Given the description of an element on the screen output the (x, y) to click on. 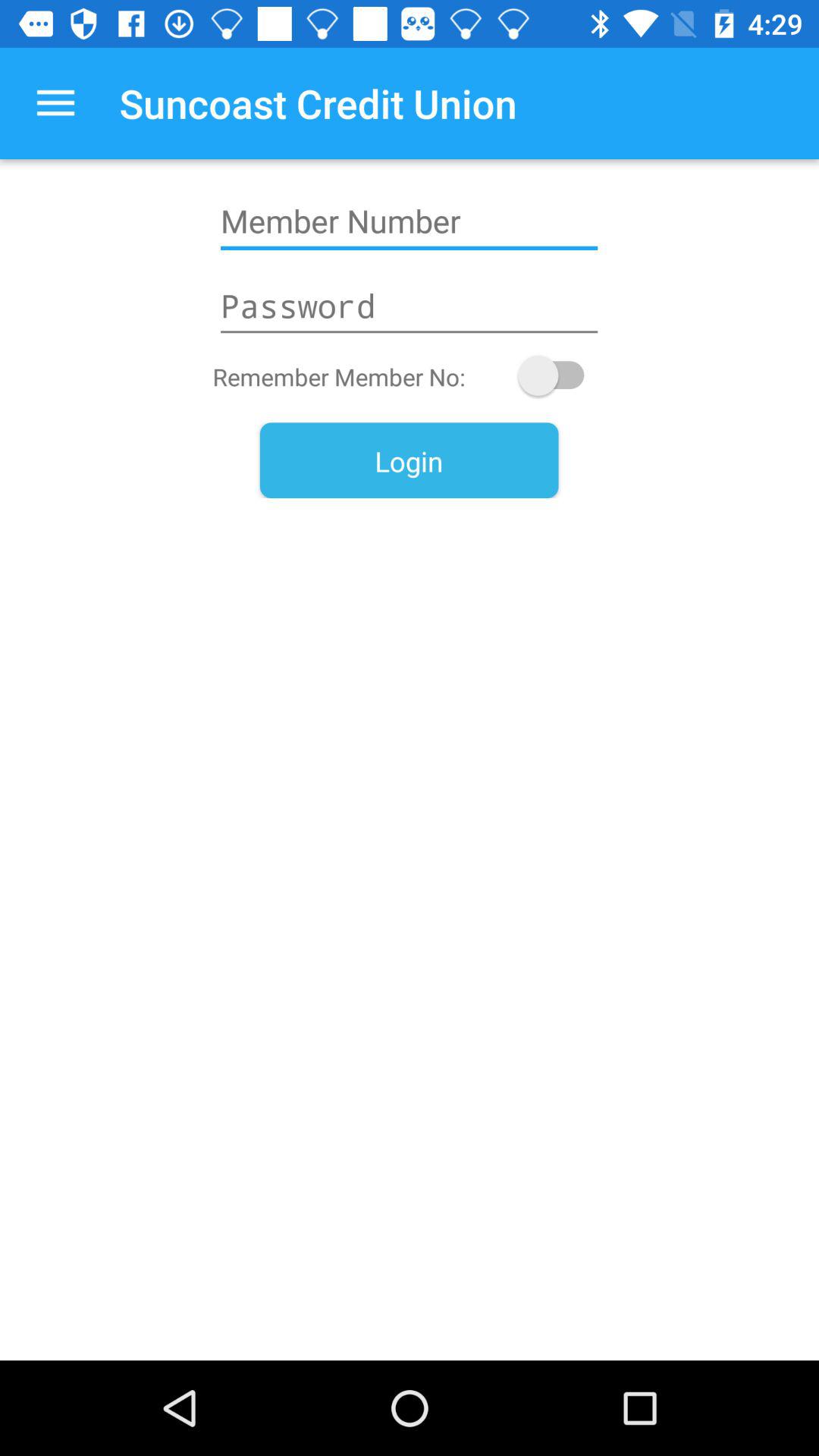
input password (408, 305)
